Given the description of an element on the screen output the (x, y) to click on. 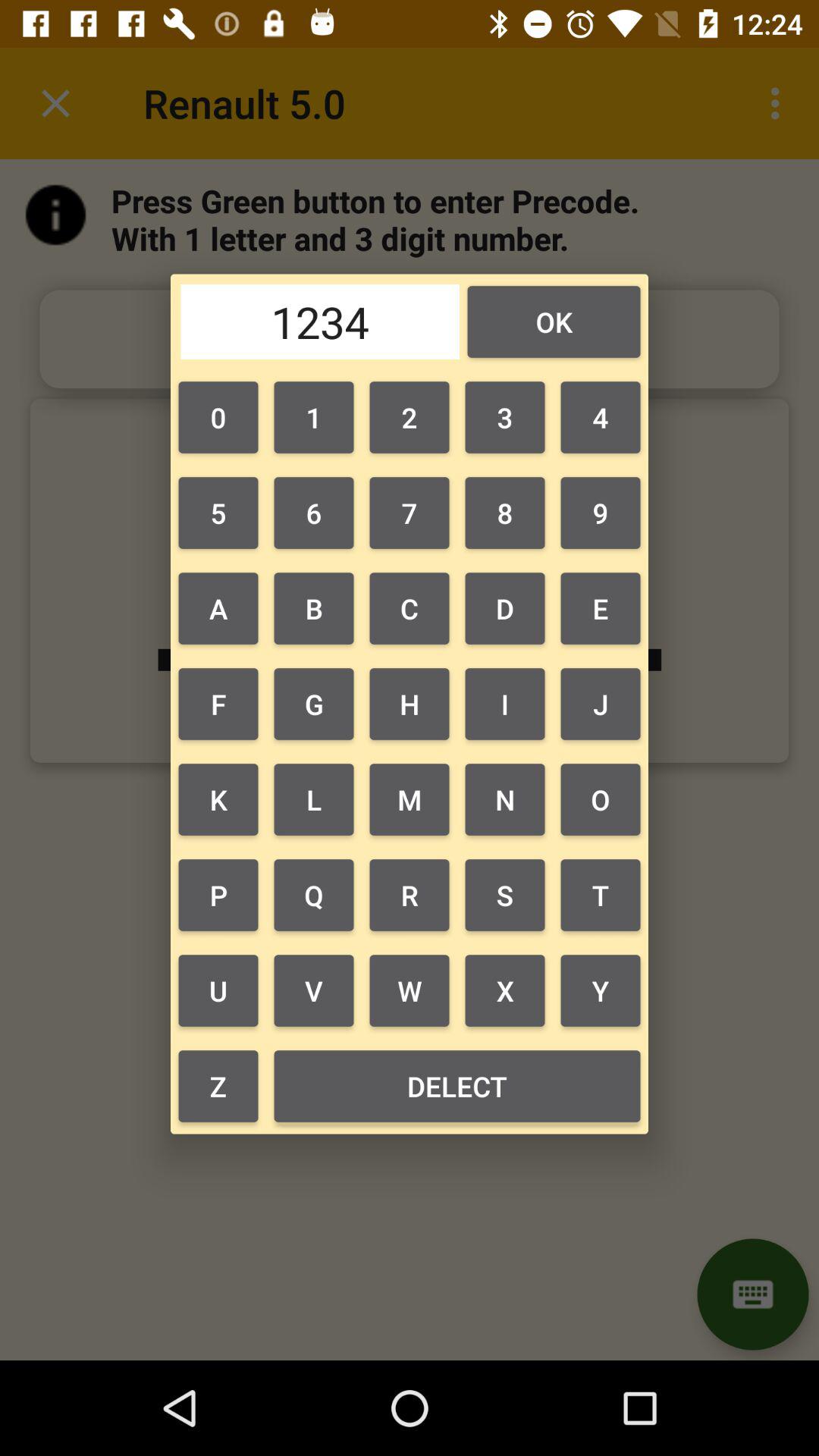
press icon next to the g icon (218, 799)
